Given the description of an element on the screen output the (x, y) to click on. 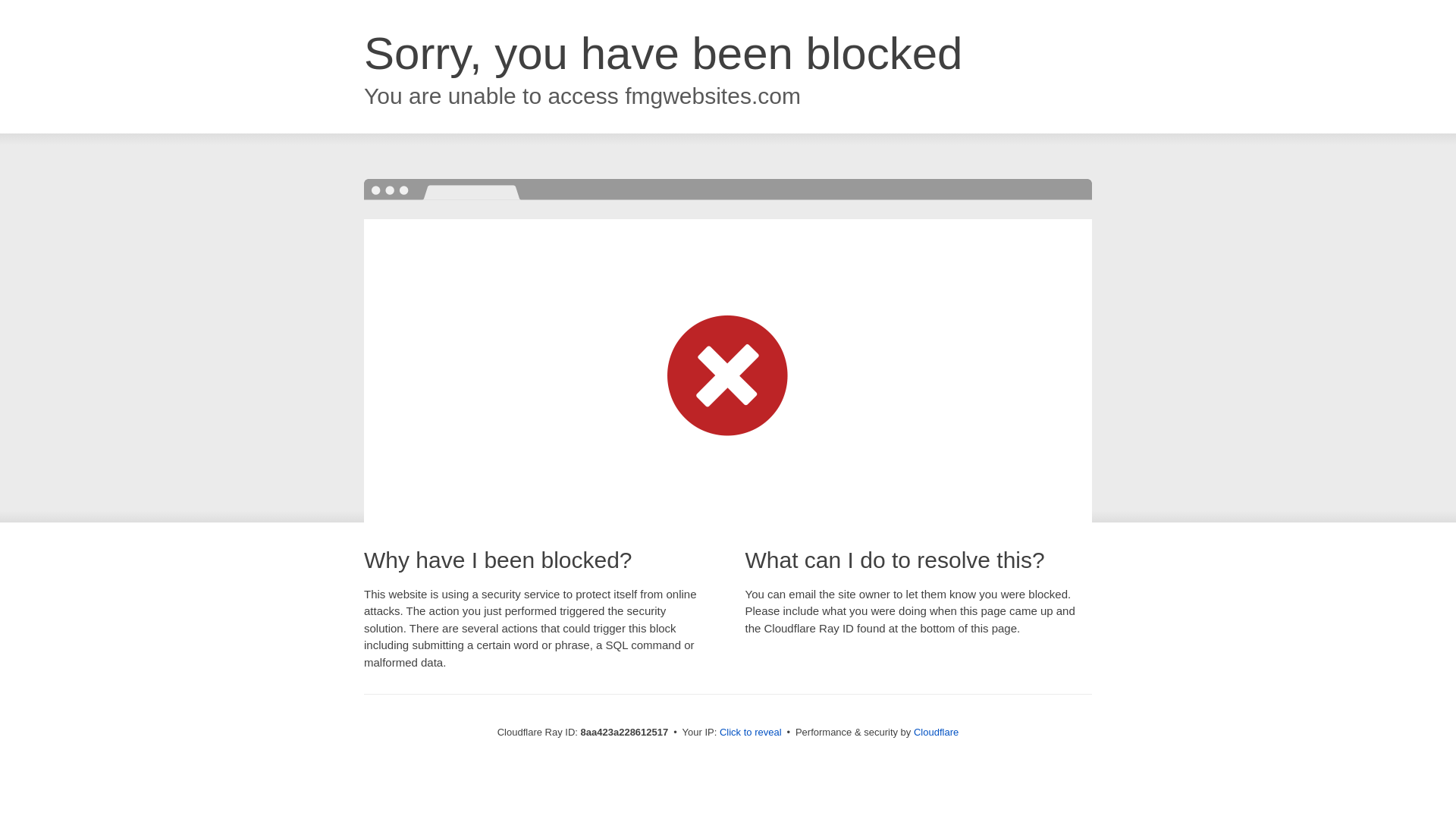
Cloudflare (936, 731)
Click to reveal (750, 732)
